Given the description of an element on the screen output the (x, y) to click on. 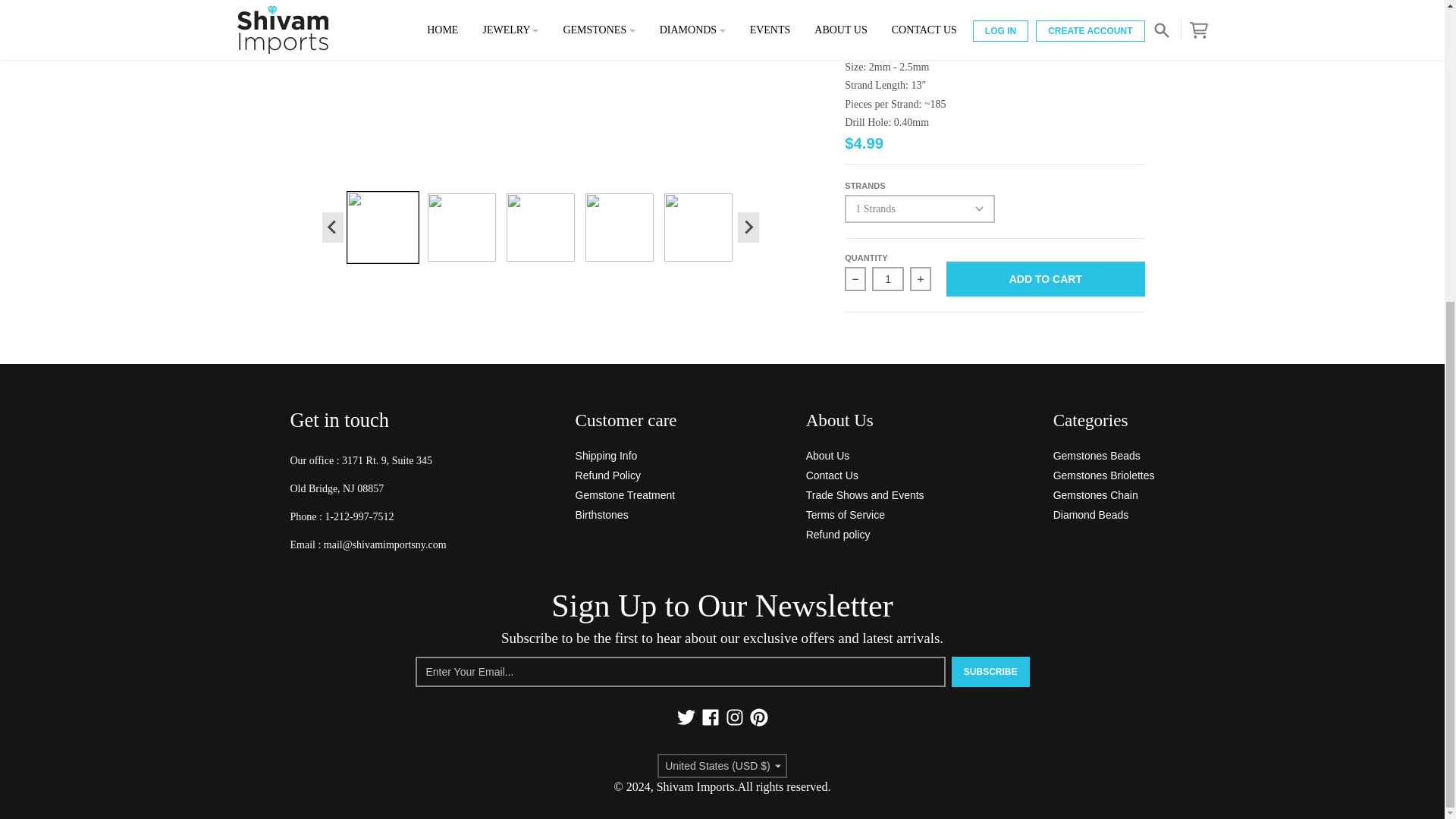
1 (888, 278)
Instagram - Shivam Imports (733, 717)
Pinterest - Shivam Imports (758, 717)
Twitter - Shivam Imports (685, 717)
Facebook - Shivam Imports (709, 717)
